Given the description of an element on the screen output the (x, y) to click on. 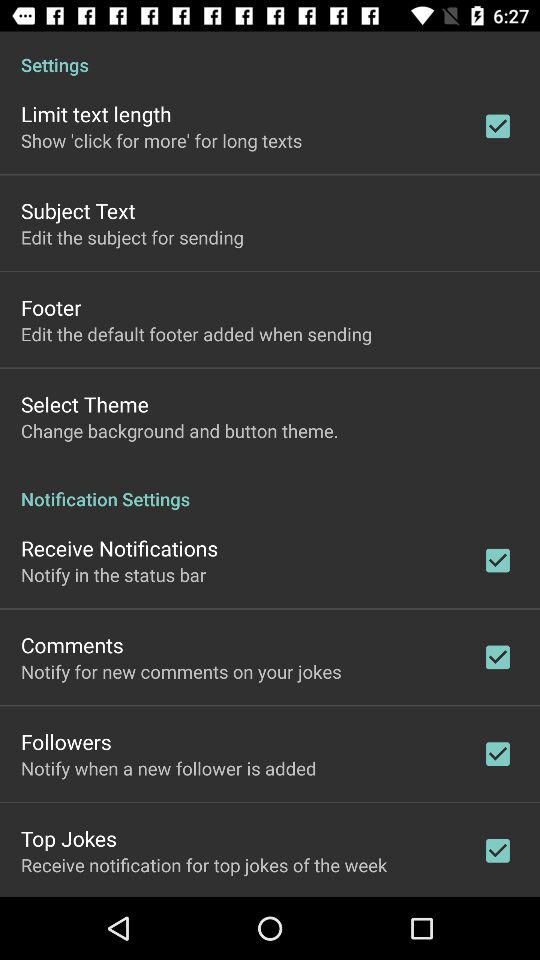
tap the icon below notify for new item (66, 741)
